Given the description of an element on the screen output the (x, y) to click on. 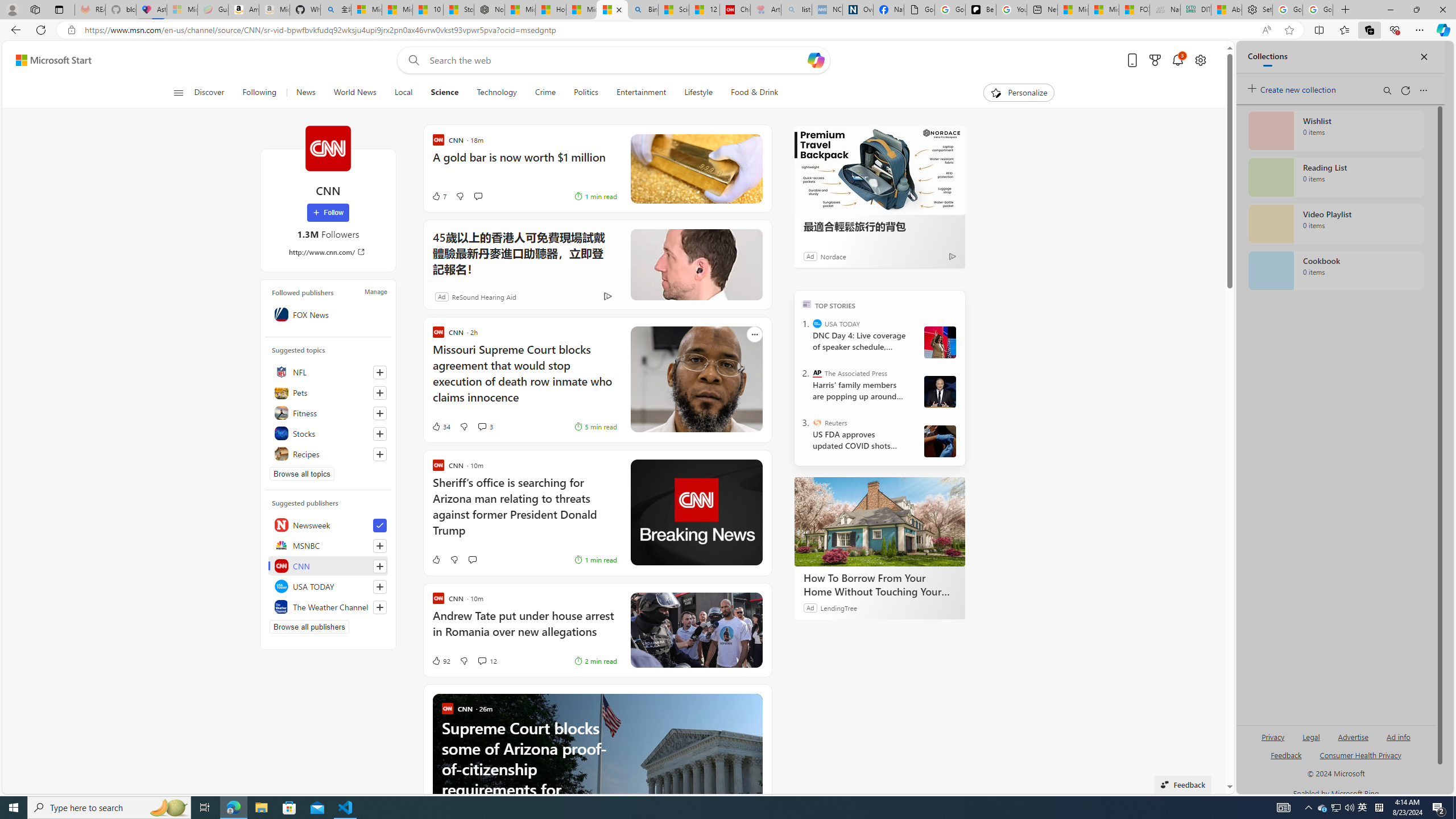
Follow this source (379, 607)
CNN - MSN (611, 9)
Food & Drink (750, 92)
View comments 3 Comment (485, 426)
View comments 12 Comment (469, 660)
Browse all publishers (309, 626)
